Given the description of an element on the screen output the (x, y) to click on. 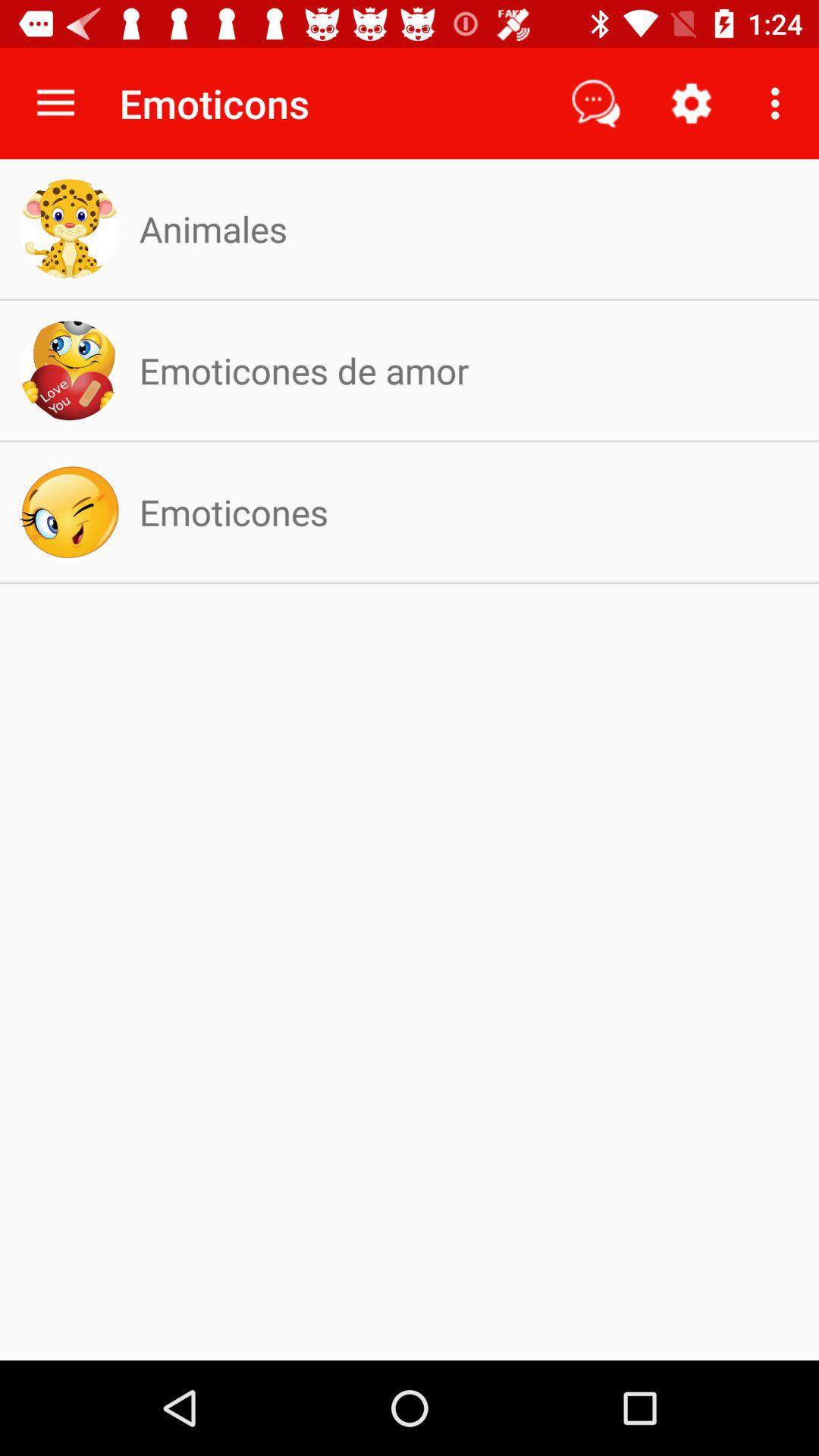
turn off animales icon (213, 228)
